Given the description of an element on the screen output the (x, y) to click on. 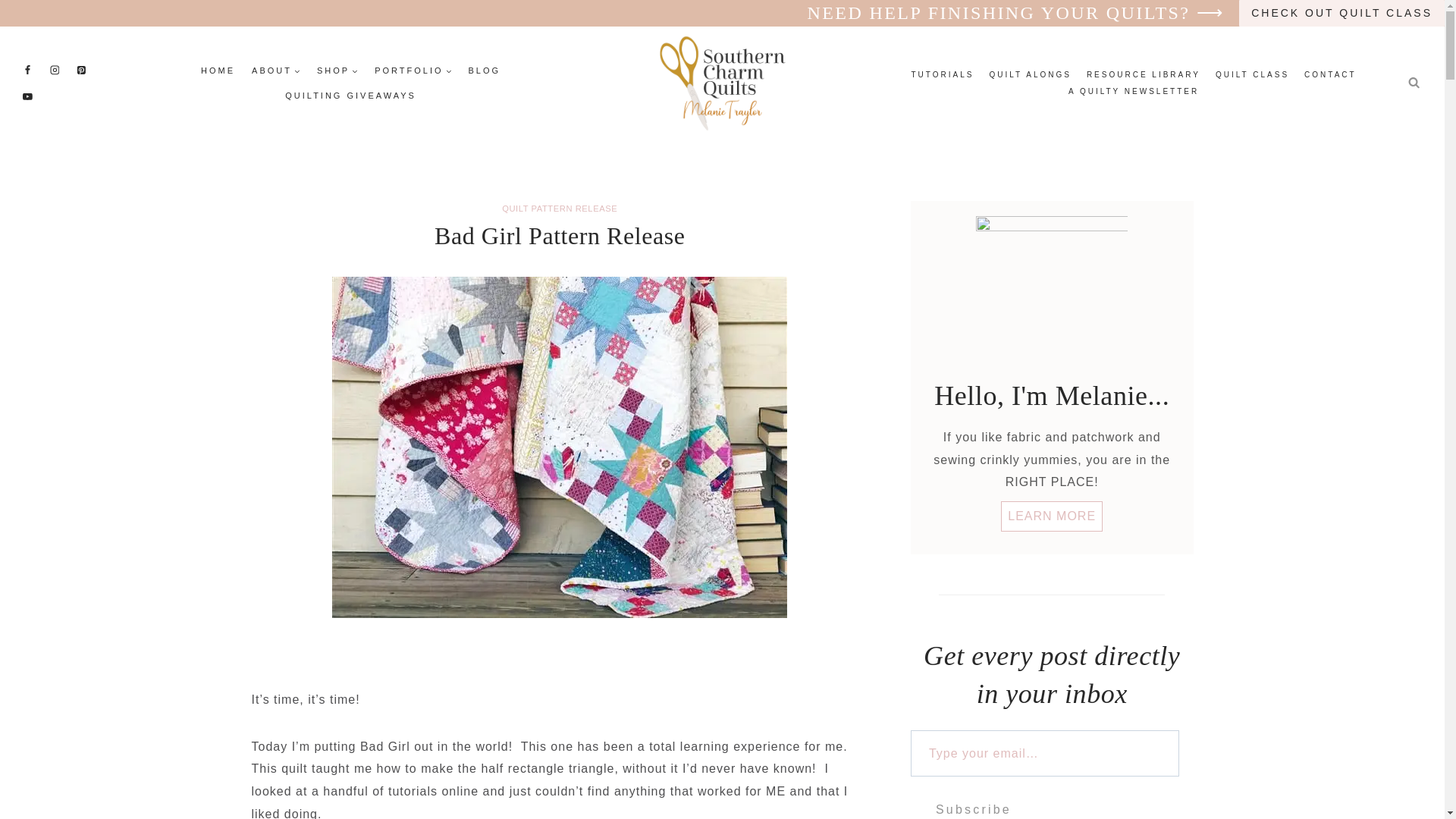
PORTFOLIO (413, 70)
QUILTING GIVEAWAYS (350, 95)
QUILT ALONGS (1029, 74)
HOME (217, 70)
BLOG (484, 70)
ABOUT (275, 70)
CONTACT (1330, 74)
QUILT PATTERN RELEASE (559, 207)
A QUILTY NEWSLETTER (1134, 91)
SHOP (337, 70)
